Given the description of an element on the screen output the (x, y) to click on. 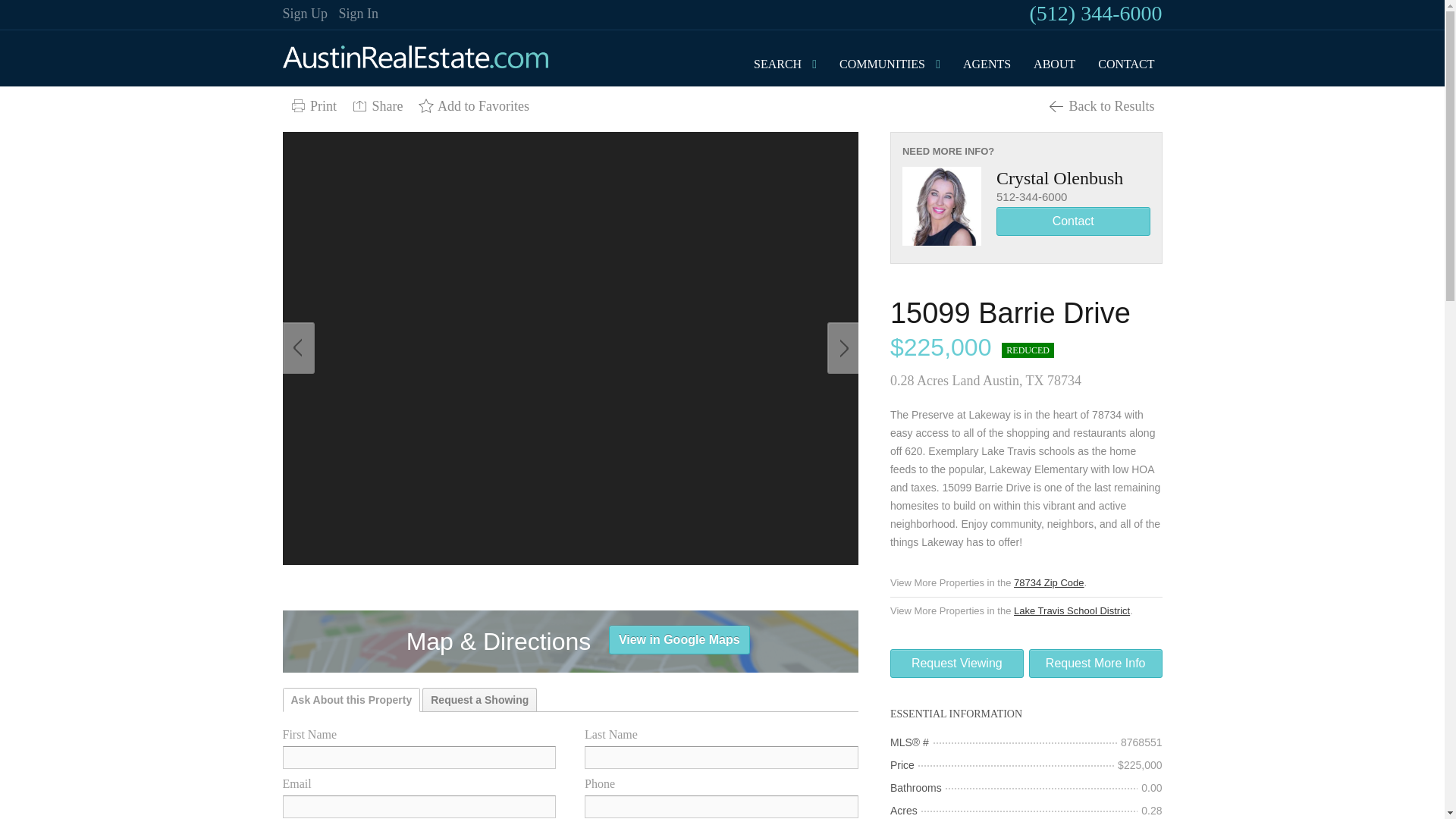
ABOUT (1054, 64)
Sign Up (304, 13)
SEARCH (777, 64)
CONTACT (1125, 64)
COMMUNITIES (882, 64)
Print (312, 106)
Back to Results (1101, 106)
Print this Listing (312, 106)
AGENTS (986, 64)
Sign In (358, 13)
Share this Listing (376, 106)
Share (376, 106)
Add to Favorites (473, 106)
Add to Favorites (473, 106)
